Given the description of an element on the screen output the (x, y) to click on. 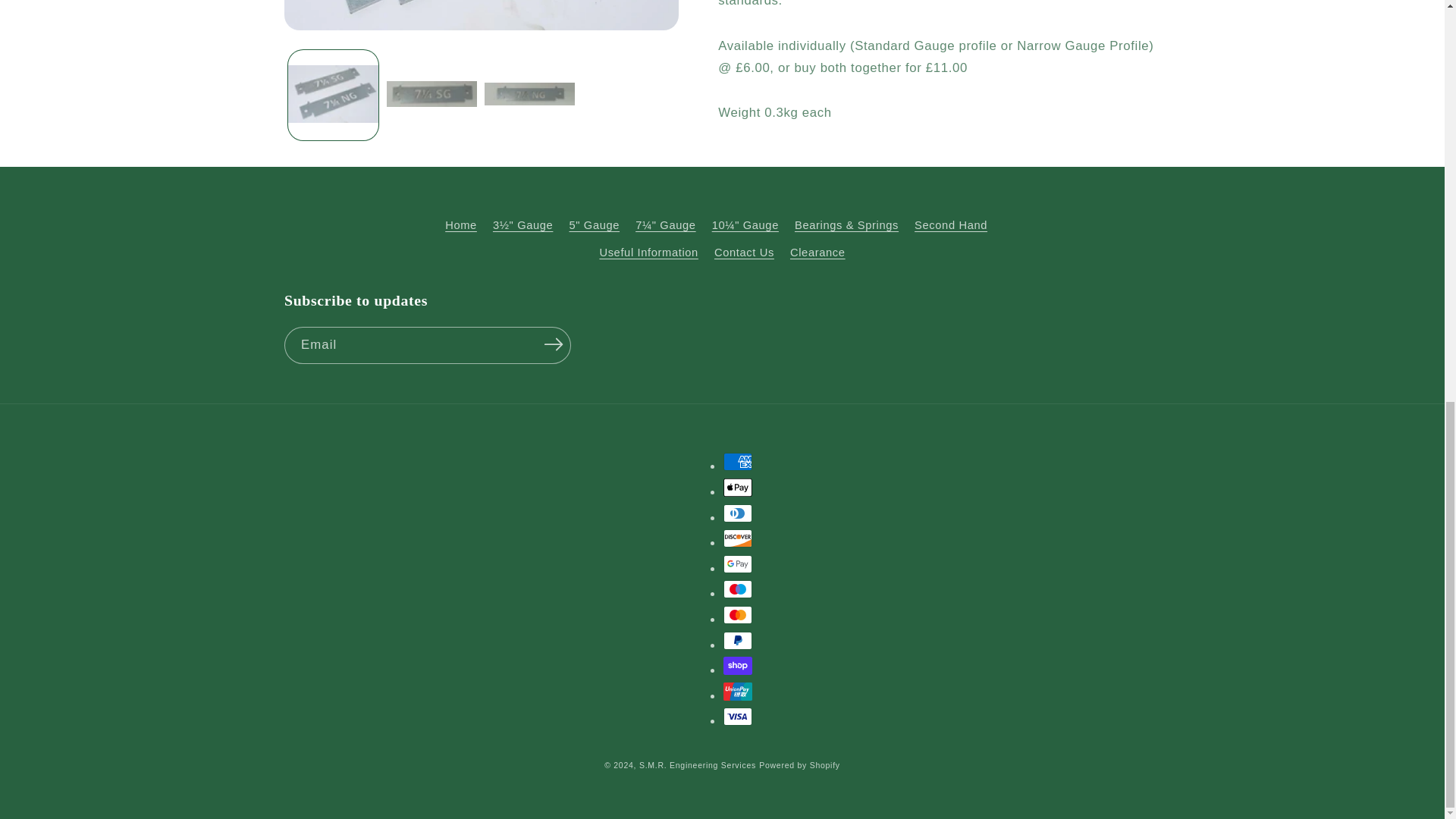
Mastercard (737, 615)
Diners Club (737, 513)
Discover (737, 538)
Google Pay (737, 564)
PayPal (737, 640)
American Express (737, 461)
Apple Pay (737, 487)
Maestro (737, 588)
